Given the description of an element on the screen output the (x, y) to click on. 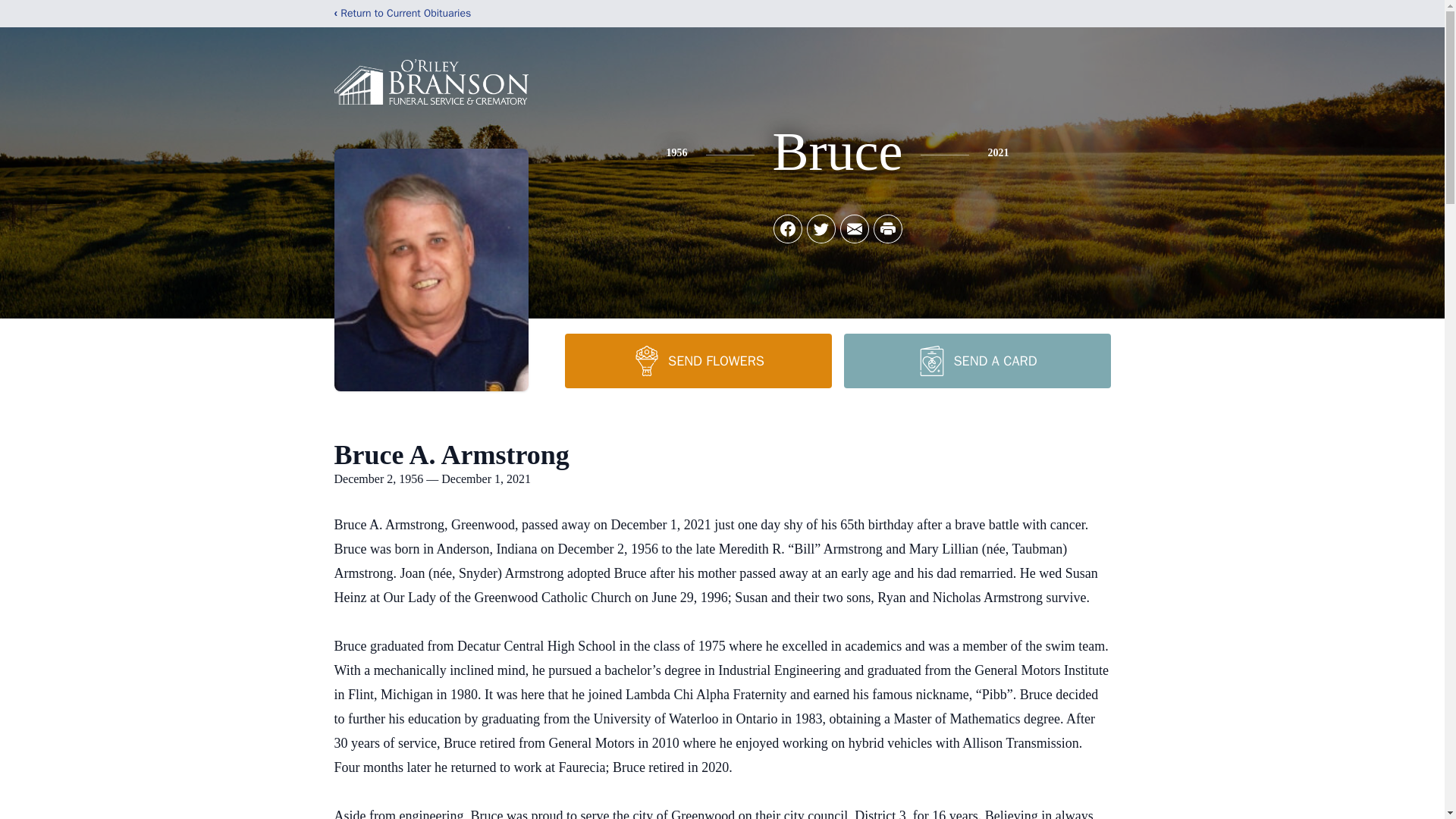
SEND FLOWERS (697, 360)
SEND A CARD (976, 360)
